Given the description of an element on the screen output the (x, y) to click on. 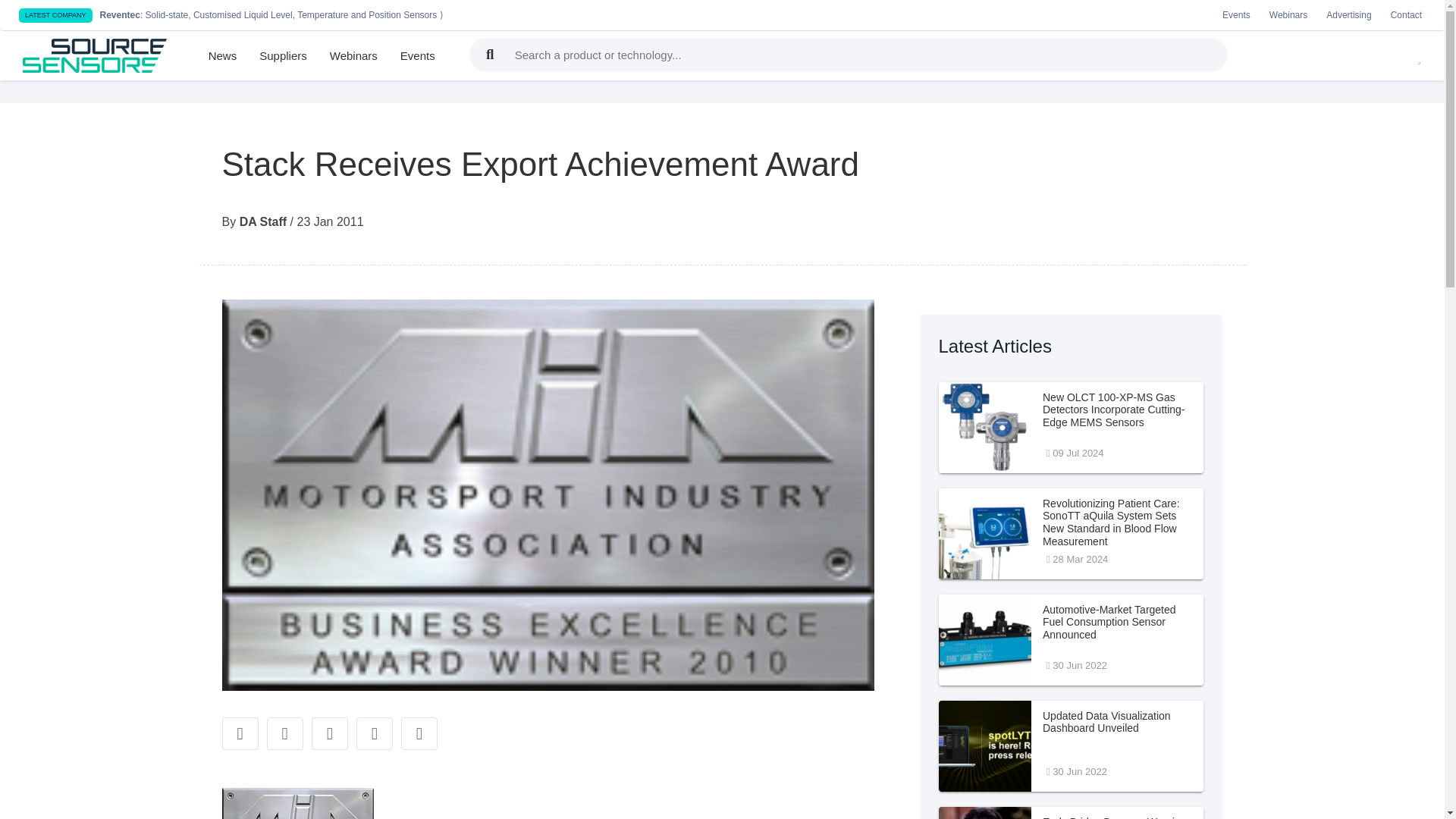
News (222, 56)
Webinars (1288, 15)
Suppliers (282, 56)
business excellence award (296, 803)
Webinars (353, 56)
Advertising (1348, 15)
Events (417, 56)
Events (1071, 812)
Contact (1071, 746)
